Given the description of an element on the screen output the (x, y) to click on. 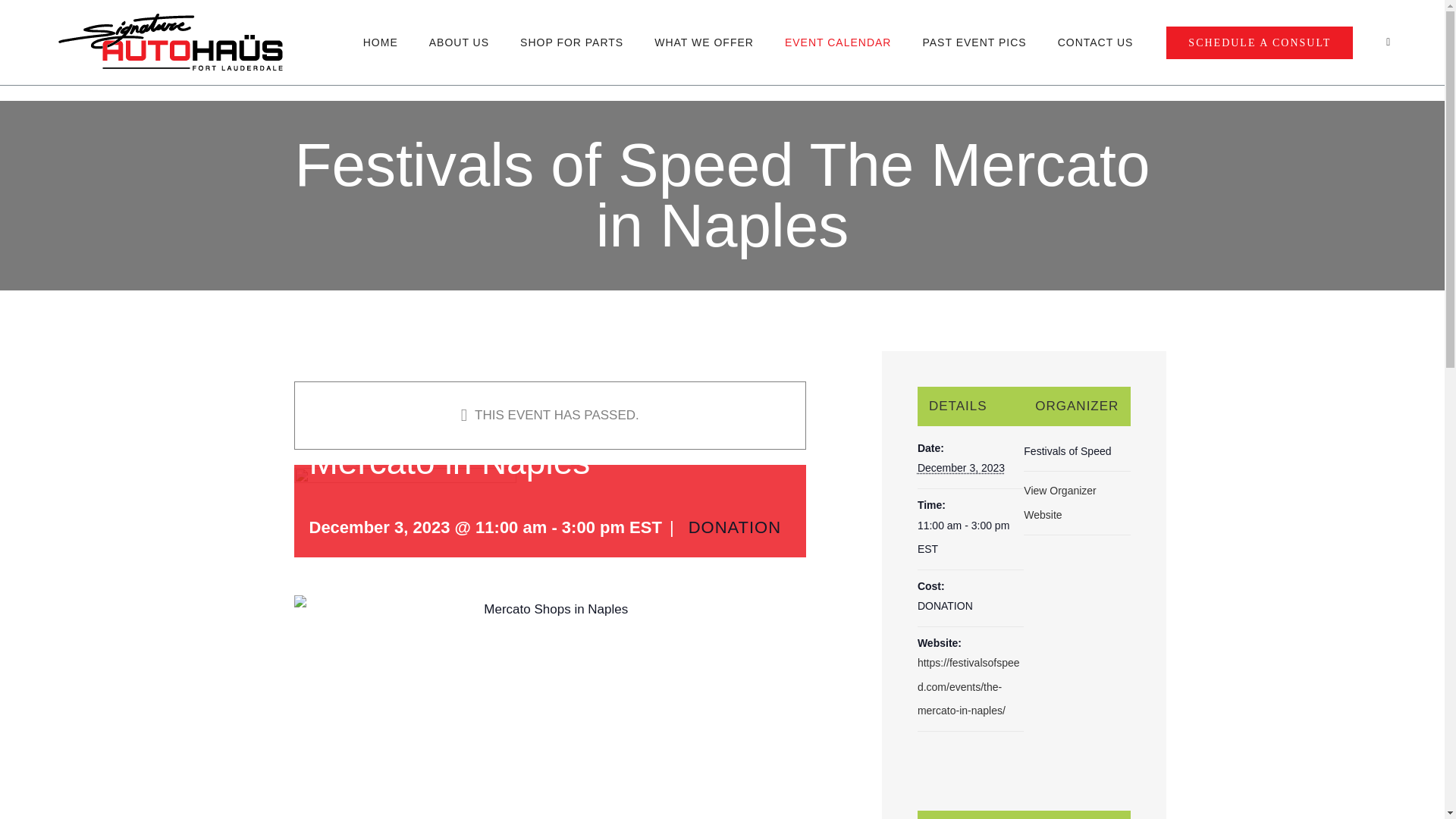
SCHEDULE A CONSULT (1259, 42)
Mercato Shops in Naples (550, 707)
SHOP FOR PARTS (571, 42)
WHAT WE OFFER (703, 42)
2023-12-03 (970, 537)
CONTACT US (1096, 42)
PAST EVENT PICS (973, 42)
EVENT CALENDAR (837, 42)
2023-12-03 (960, 467)
